Given the description of an element on the screen output the (x, y) to click on. 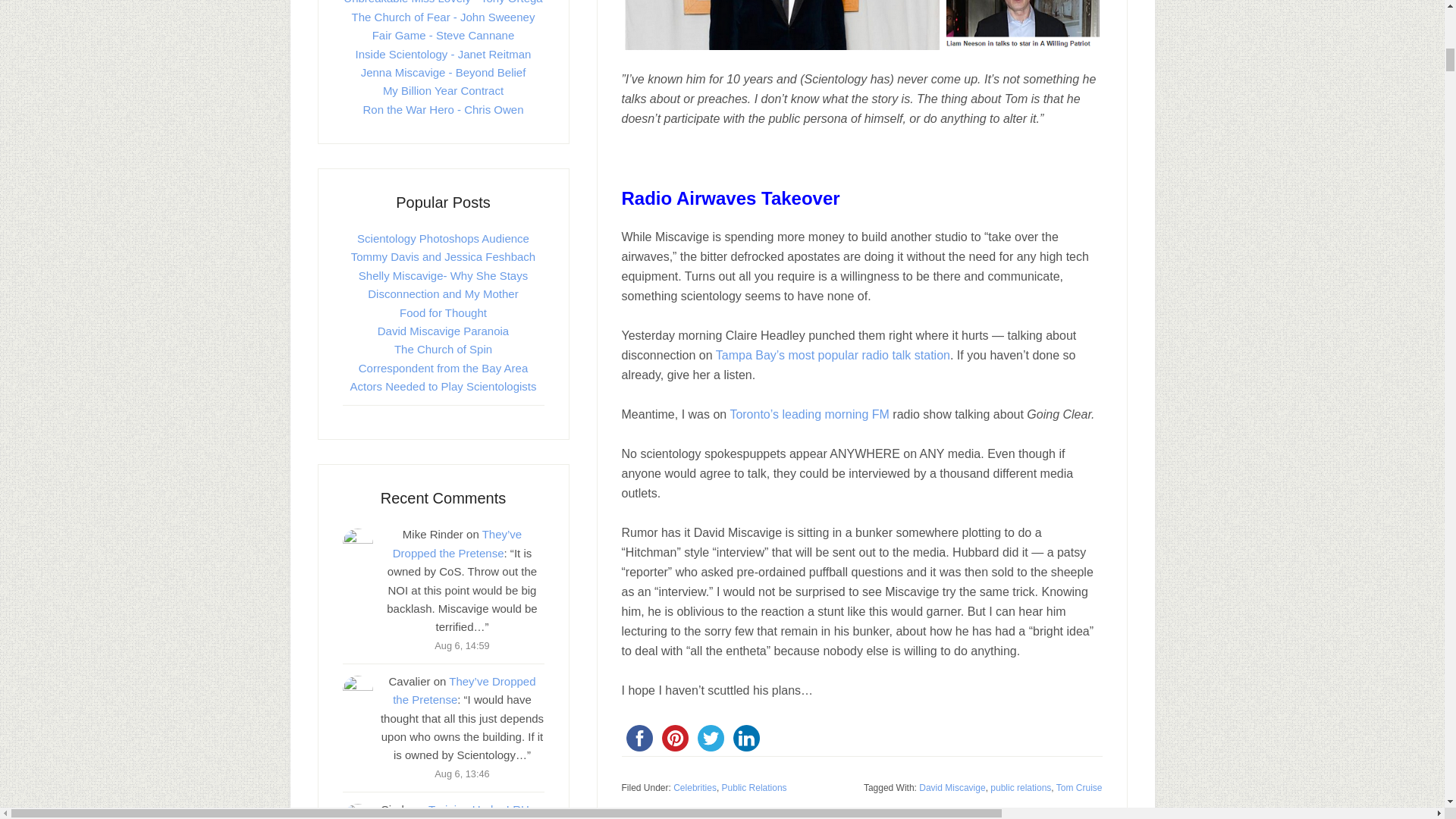
facebook (639, 737)
twitter (711, 737)
Disconnection and My Mother (443, 293)
Food for Thought (442, 312)
Public Relations (754, 787)
Tommy Davis and Jessica Feshbach (442, 256)
pinterest (674, 737)
Shelly Miscavige- Why She Stays (442, 275)
Tom Cruise (1079, 787)
public relations (1020, 787)
